Given the description of an element on the screen output the (x, y) to click on. 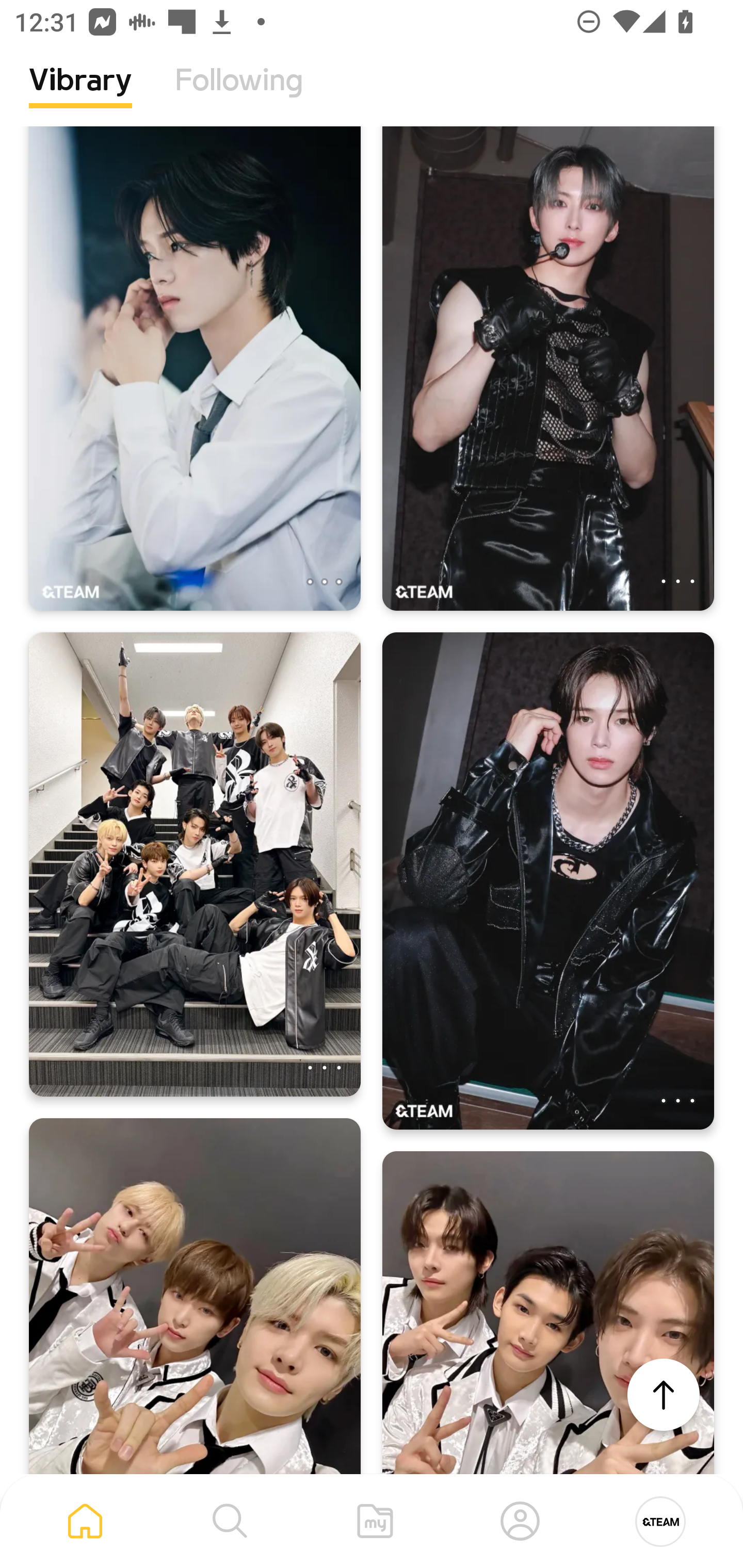
Vibrary (80, 95)
Following (239, 95)
